Given the description of an element on the screen output the (x, y) to click on. 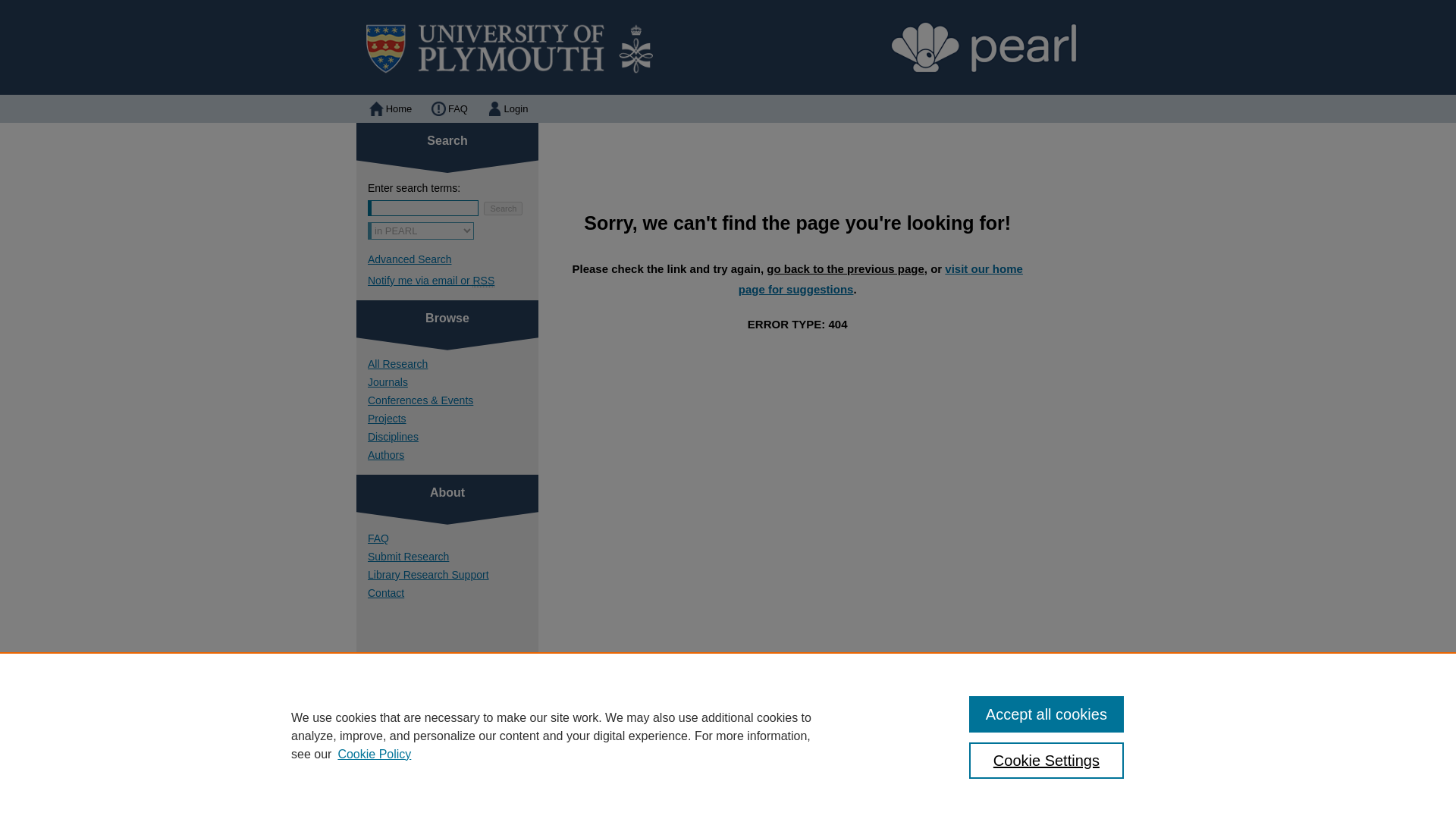
FAQ (453, 538)
Login (507, 108)
Disciplines (453, 436)
FAQ (448, 108)
PEARL (727, 47)
Authors (453, 454)
Search (502, 208)
Notify me via email or RSS (453, 280)
Search (502, 208)
Really Simple Syndication (483, 280)
Library Research Support (453, 574)
Submit Research (453, 556)
FAQ (448, 108)
Home (389, 108)
Login (507, 108)
